Given the description of an element on the screen output the (x, y) to click on. 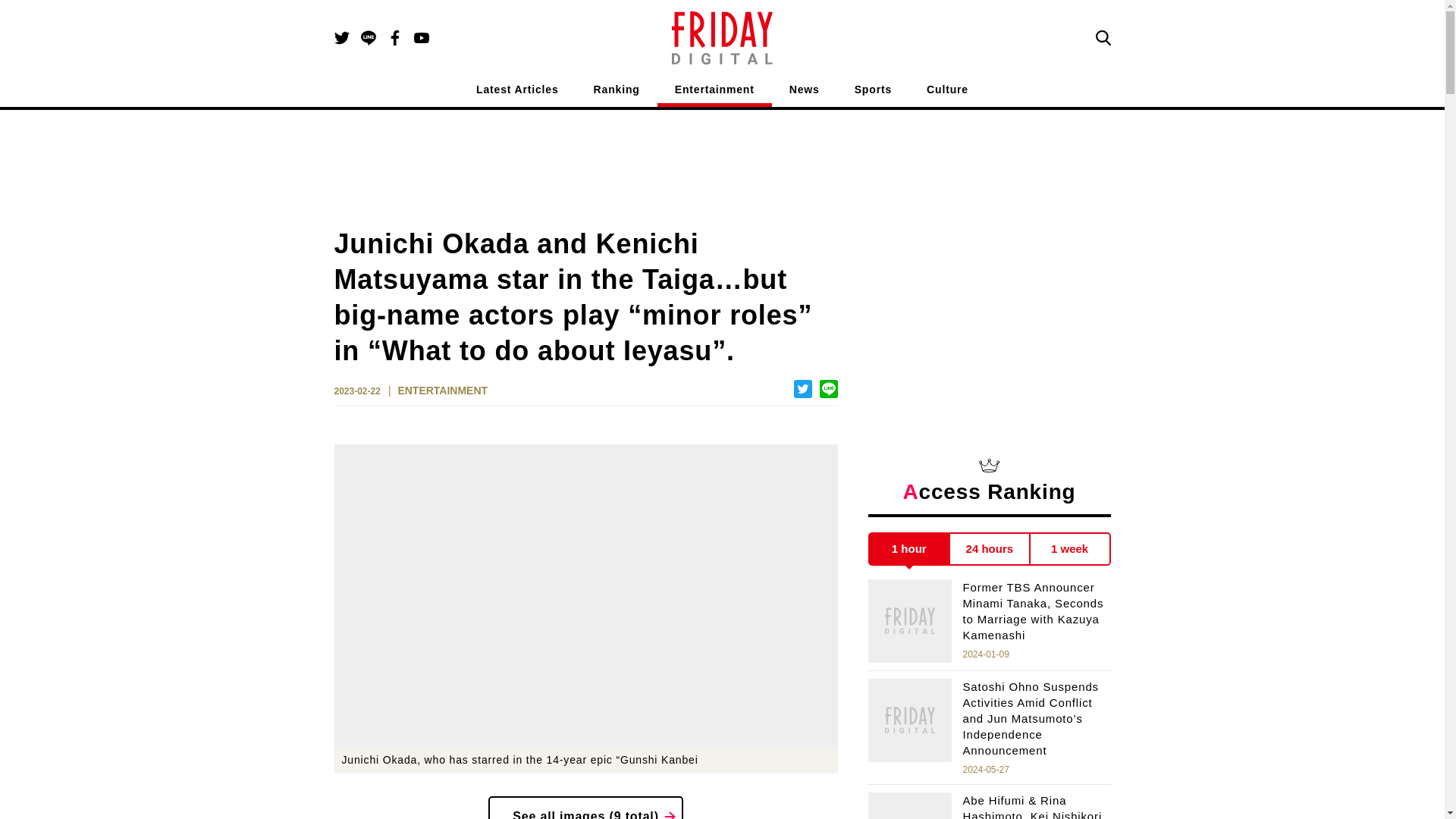
Sports (872, 92)
Latest Articles (517, 92)
Entertainment (714, 92)
Culture (946, 92)
ENTERTAINMENT (442, 391)
Ranking (617, 92)
News (804, 92)
